Given the description of an element on the screen output the (x, y) to click on. 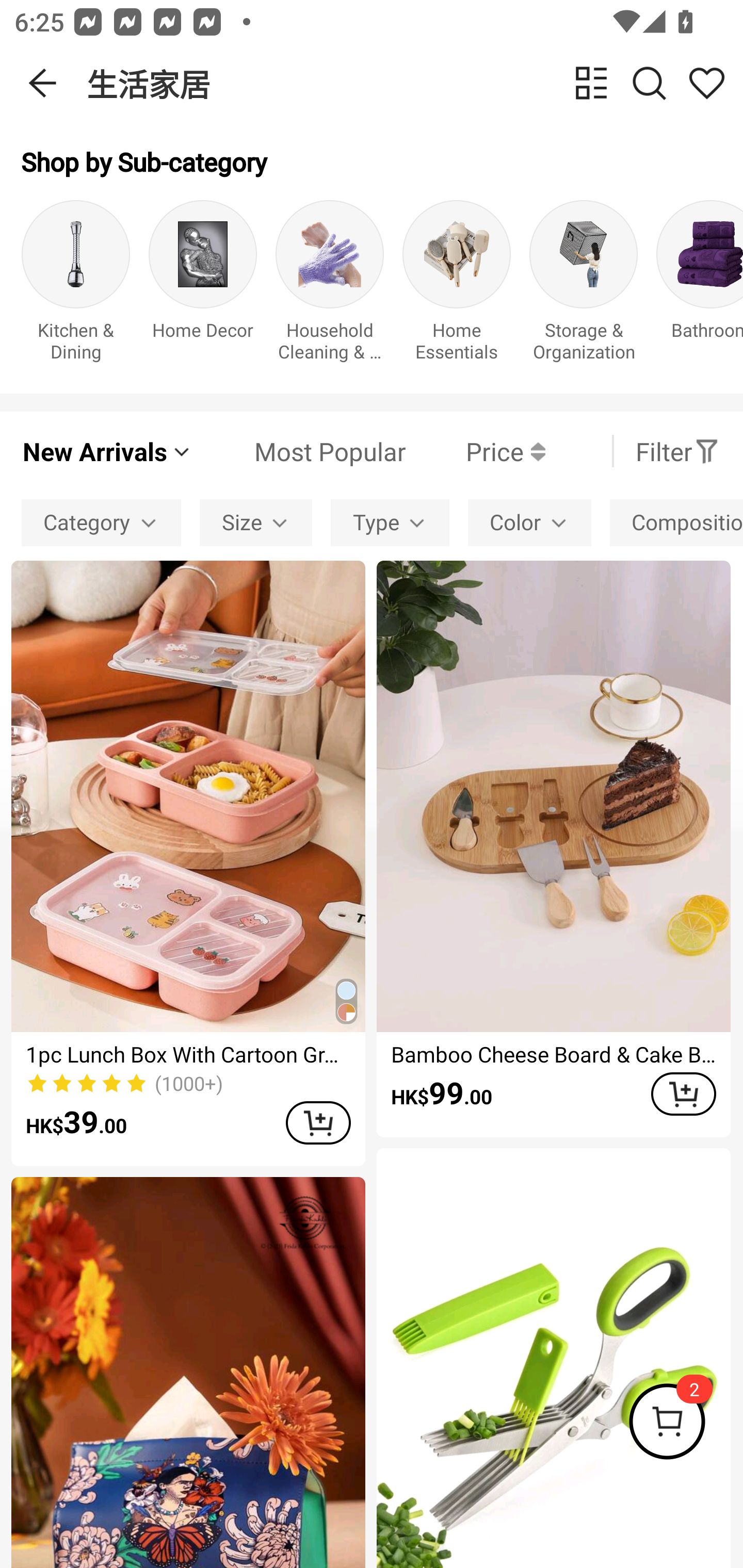
生活家居 change view Search Share (414, 82)
change view (591, 82)
Search (648, 82)
Share (706, 82)
Kitchen & Dining (75, 285)
Home Decor (202, 285)
Household Cleaning & Personal Care (329, 285)
Home Essentials (456, 285)
Storage & Organization (583, 285)
Bathroom (699, 285)
New Arrivals (107, 450)
Most Popular (299, 450)
Price (475, 450)
Filter (677, 450)
Category (101, 521)
Size (255, 521)
Type (389, 521)
Color (529, 521)
Composition (676, 521)
ADD TO CART (683, 1094)
ADD TO CART (318, 1122)
